Given the description of an element on the screen output the (x, y) to click on. 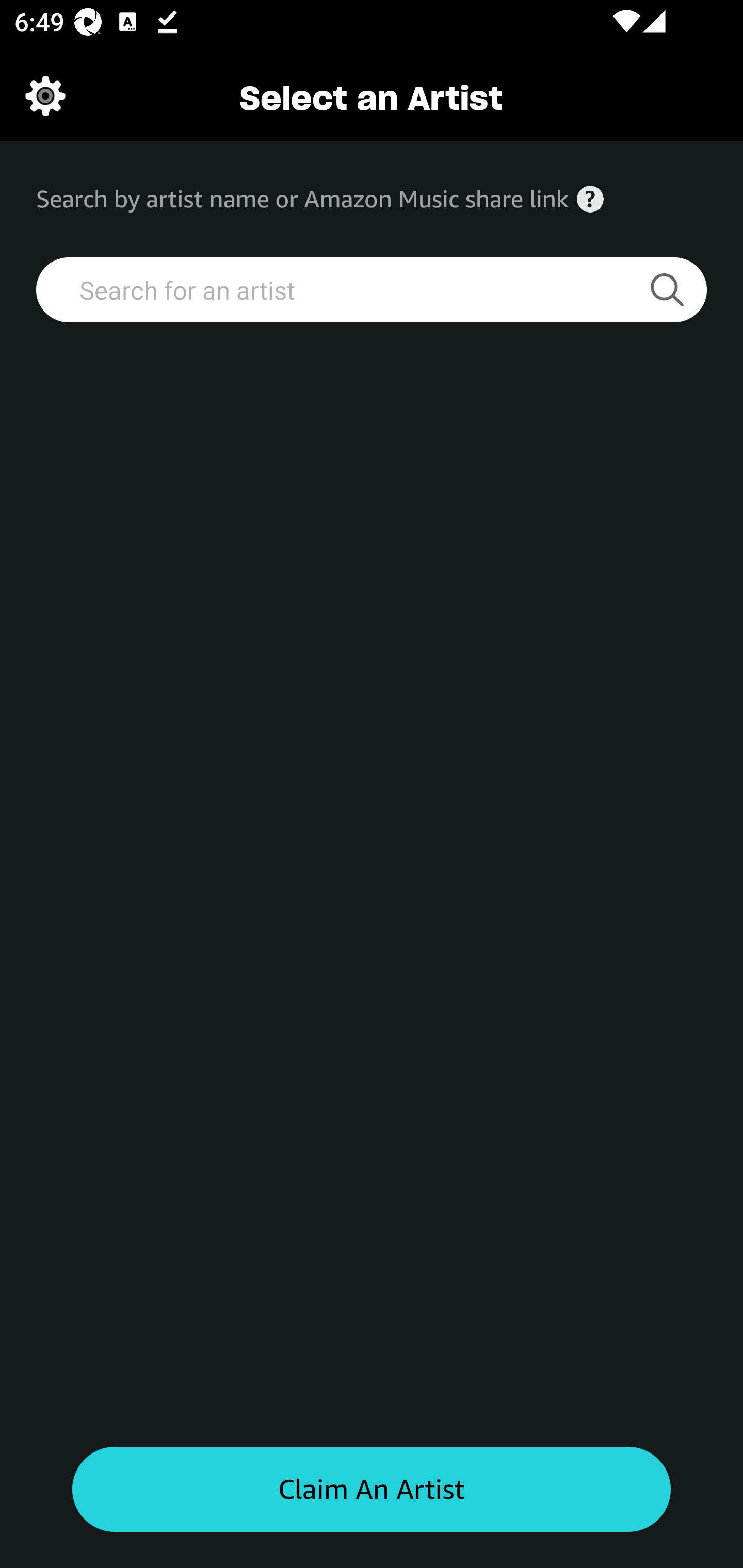
Help  icon (589, 199)
Claim an artist button Claim An Artist (371, 1489)
